Given the description of an element on the screen output the (x, y) to click on. 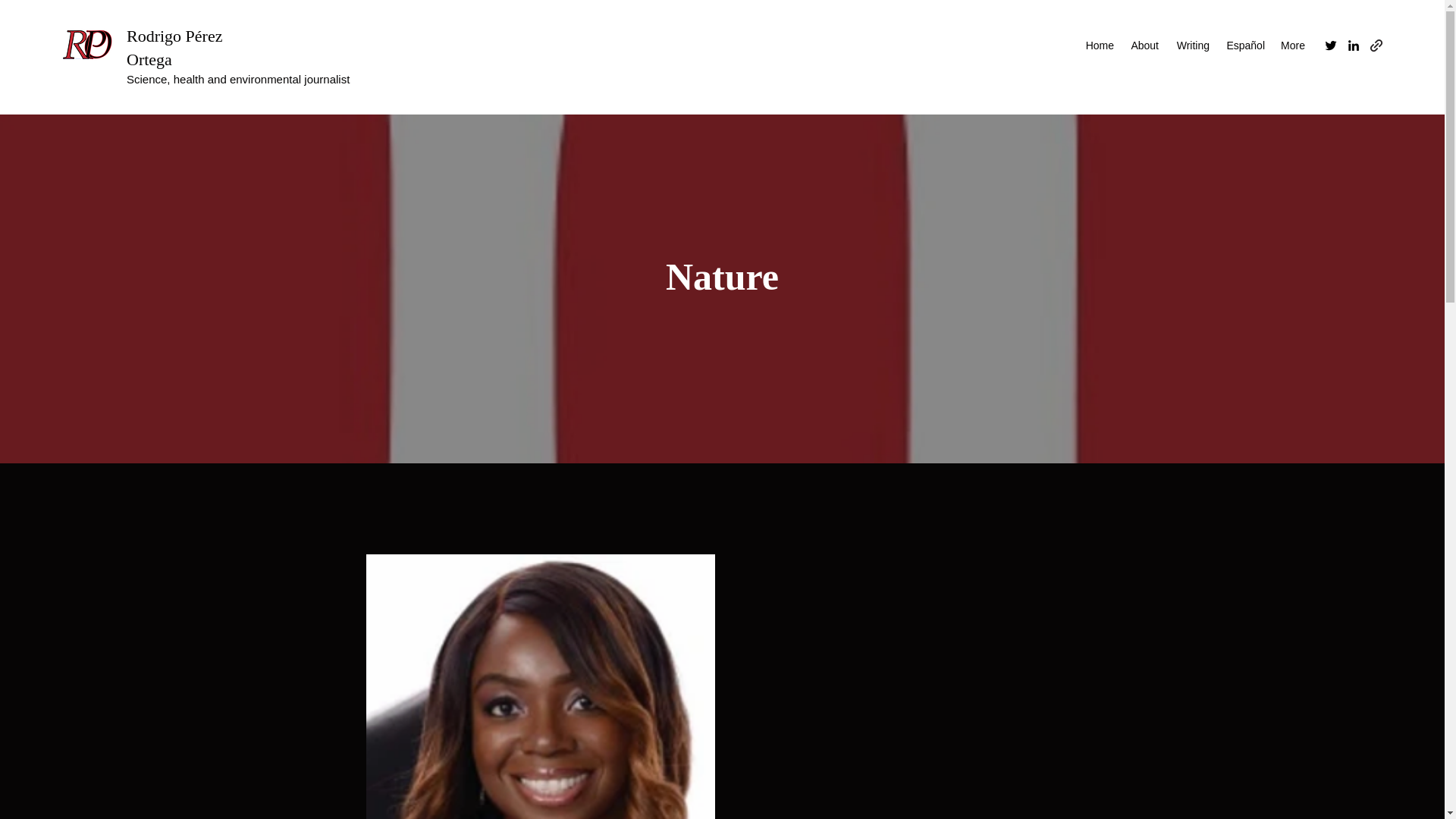
Writing (1191, 45)
Home (1099, 45)
About (1143, 45)
